Given the description of an element on the screen output the (x, y) to click on. 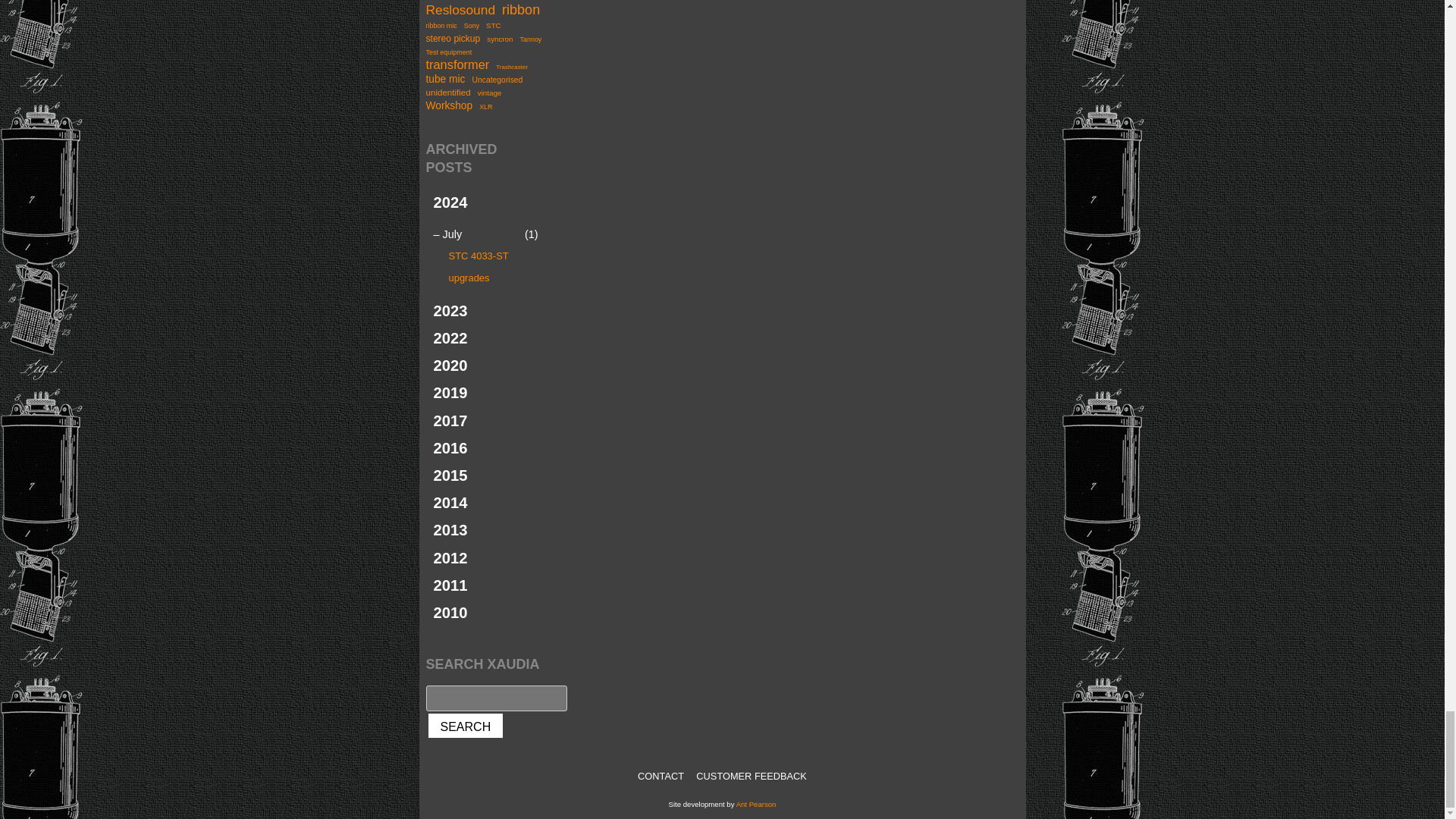
Search (465, 725)
Search (465, 725)
